Given the description of an element on the screen output the (x, y) to click on. 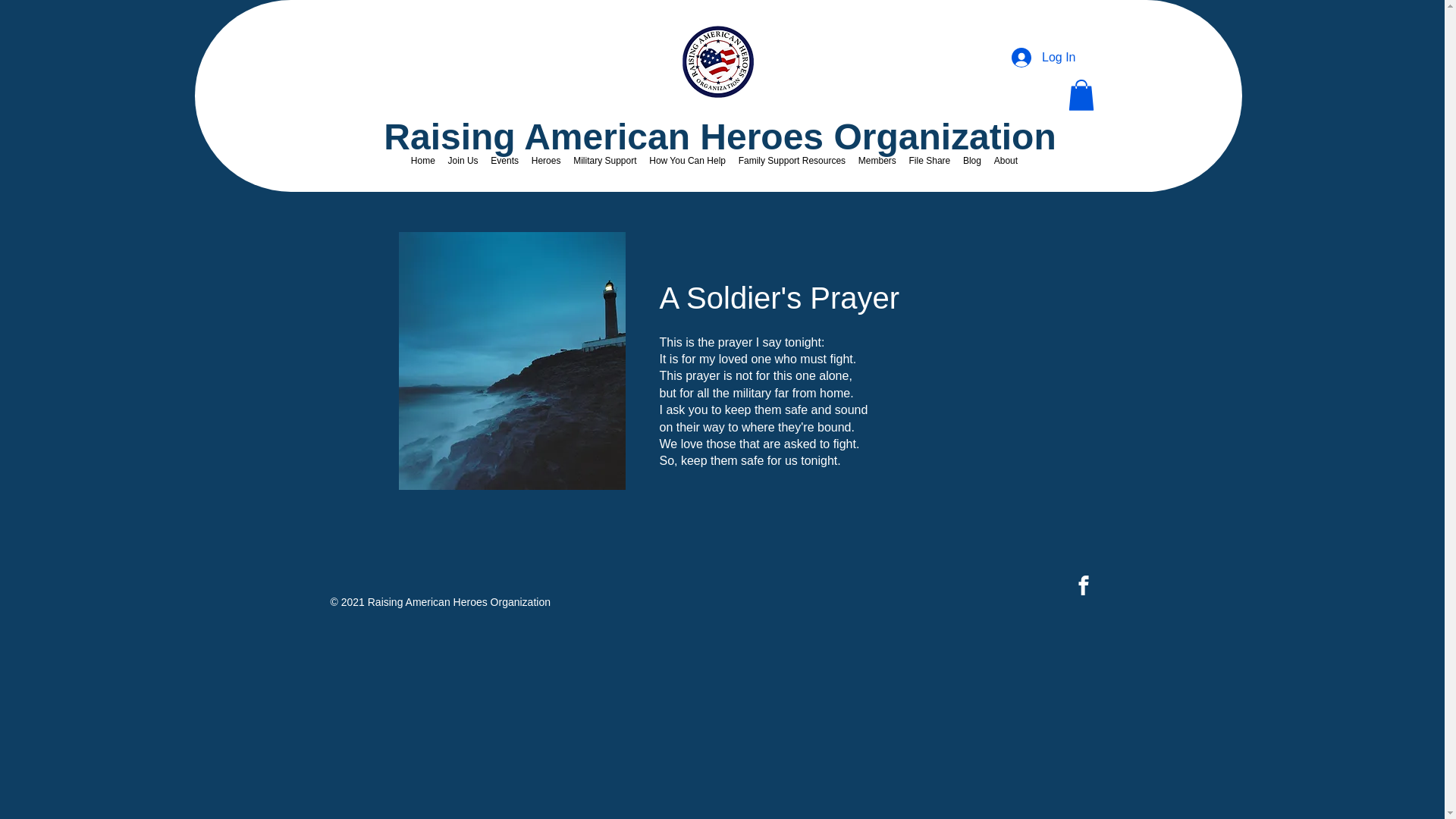
File Share (929, 160)
Members (876, 160)
Home (423, 160)
How You Can Help (687, 160)
Join Us (462, 160)
About (1005, 160)
Events (504, 160)
Military Support (605, 160)
Blog (972, 160)
Log In (1043, 57)
